Given the description of an element on the screen output the (x, y) to click on. 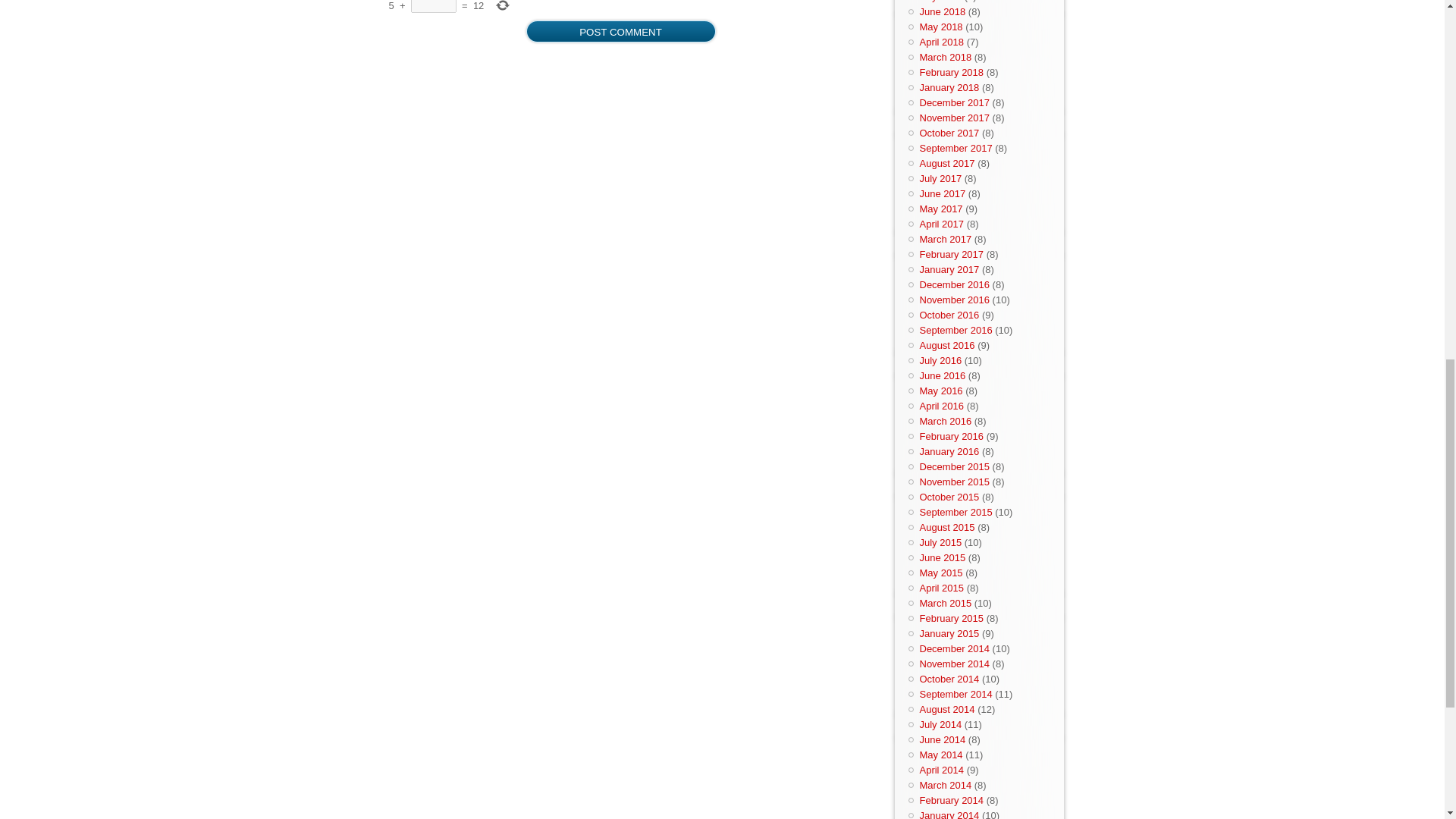
Post Comment (620, 31)
Post Comment (620, 31)
